Given the description of an element on the screen output the (x, y) to click on. 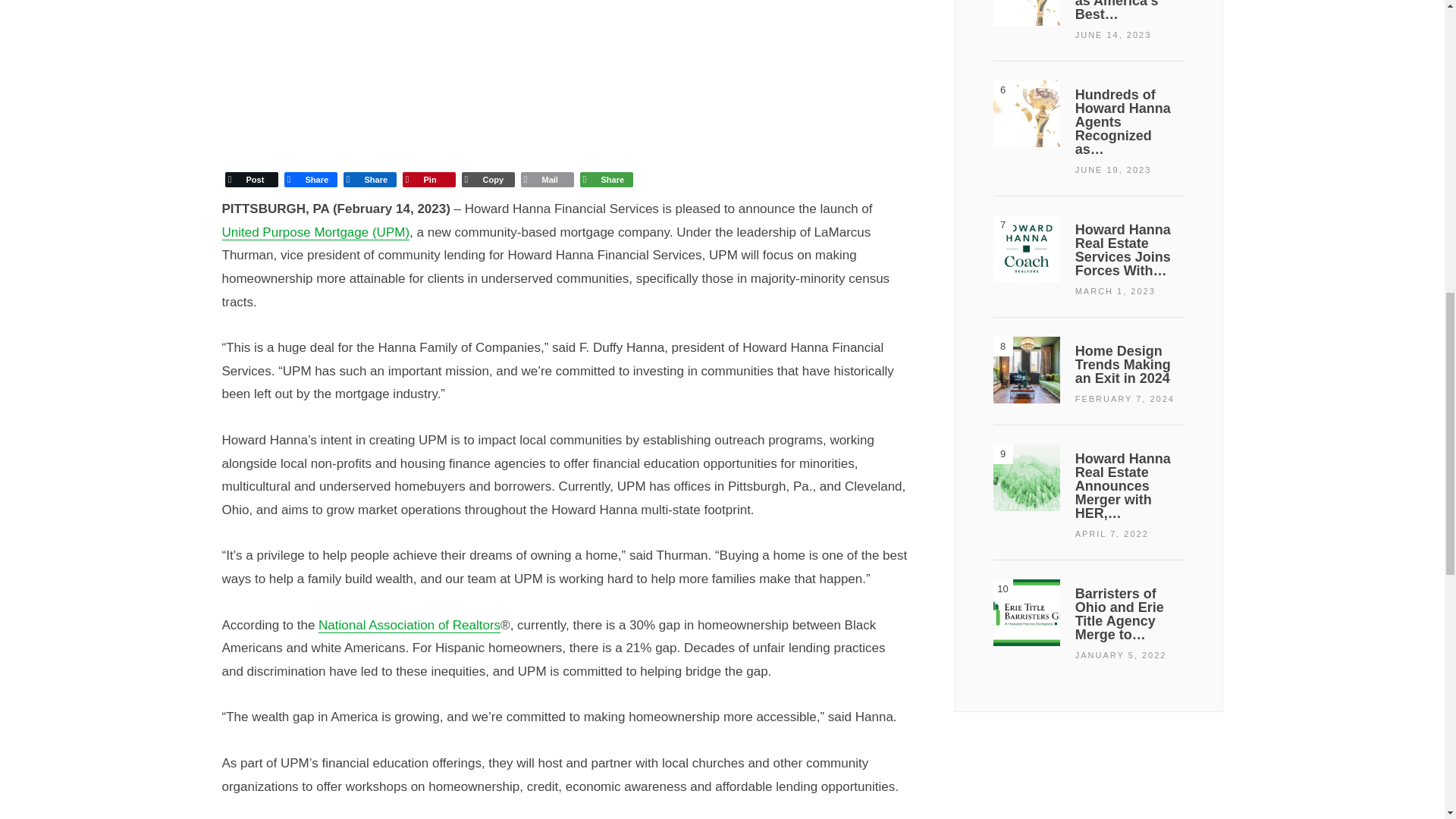
Email This (546, 179)
More Options (605, 179)
Copy Link (487, 179)
Pinterest (428, 179)
Facebook (310, 179)
LinkedIn (368, 179)
